Given the description of an element on the screen output the (x, y) to click on. 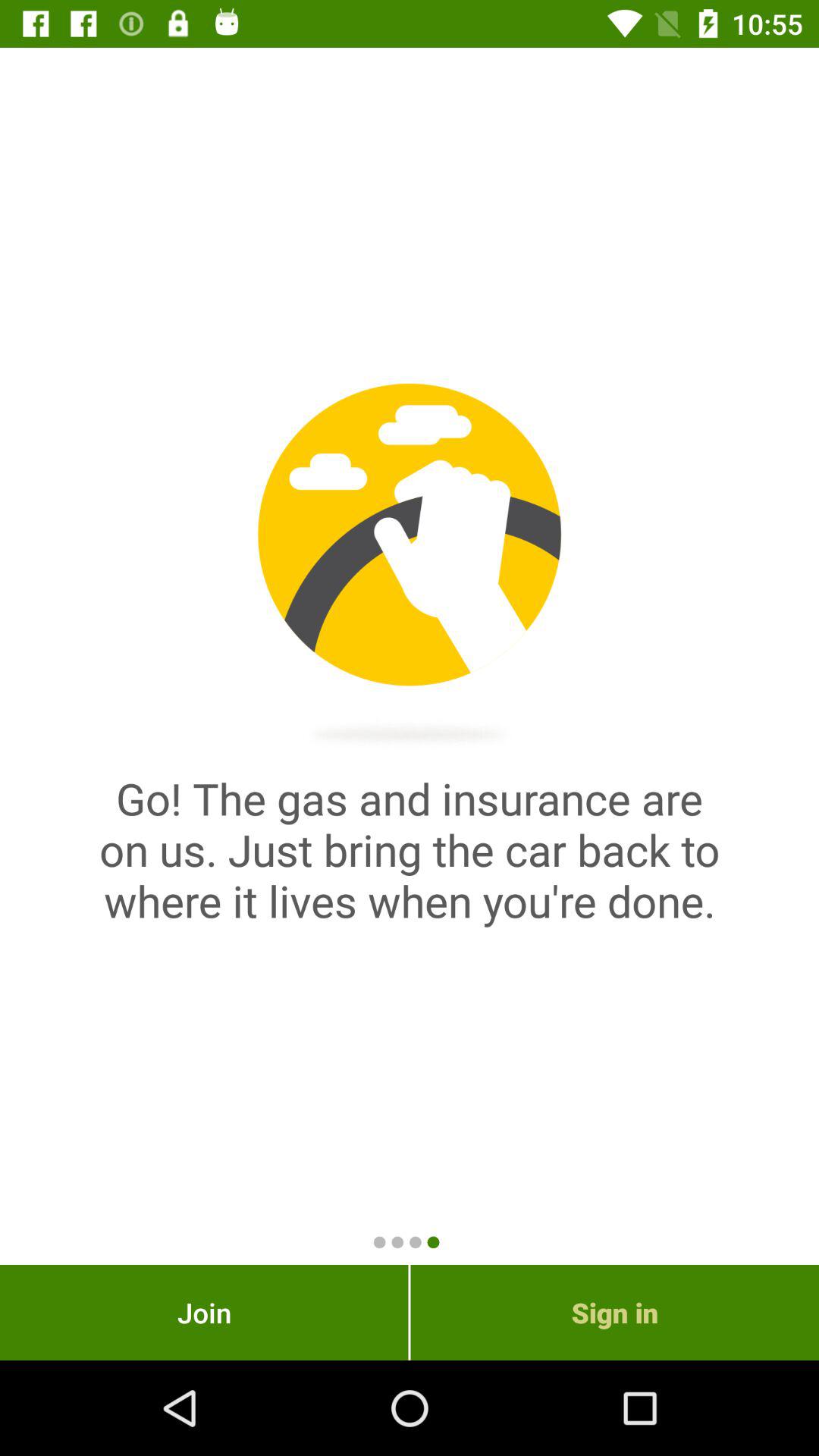
press the item to the left of sign in (204, 1312)
